Given the description of an element on the screen output the (x, y) to click on. 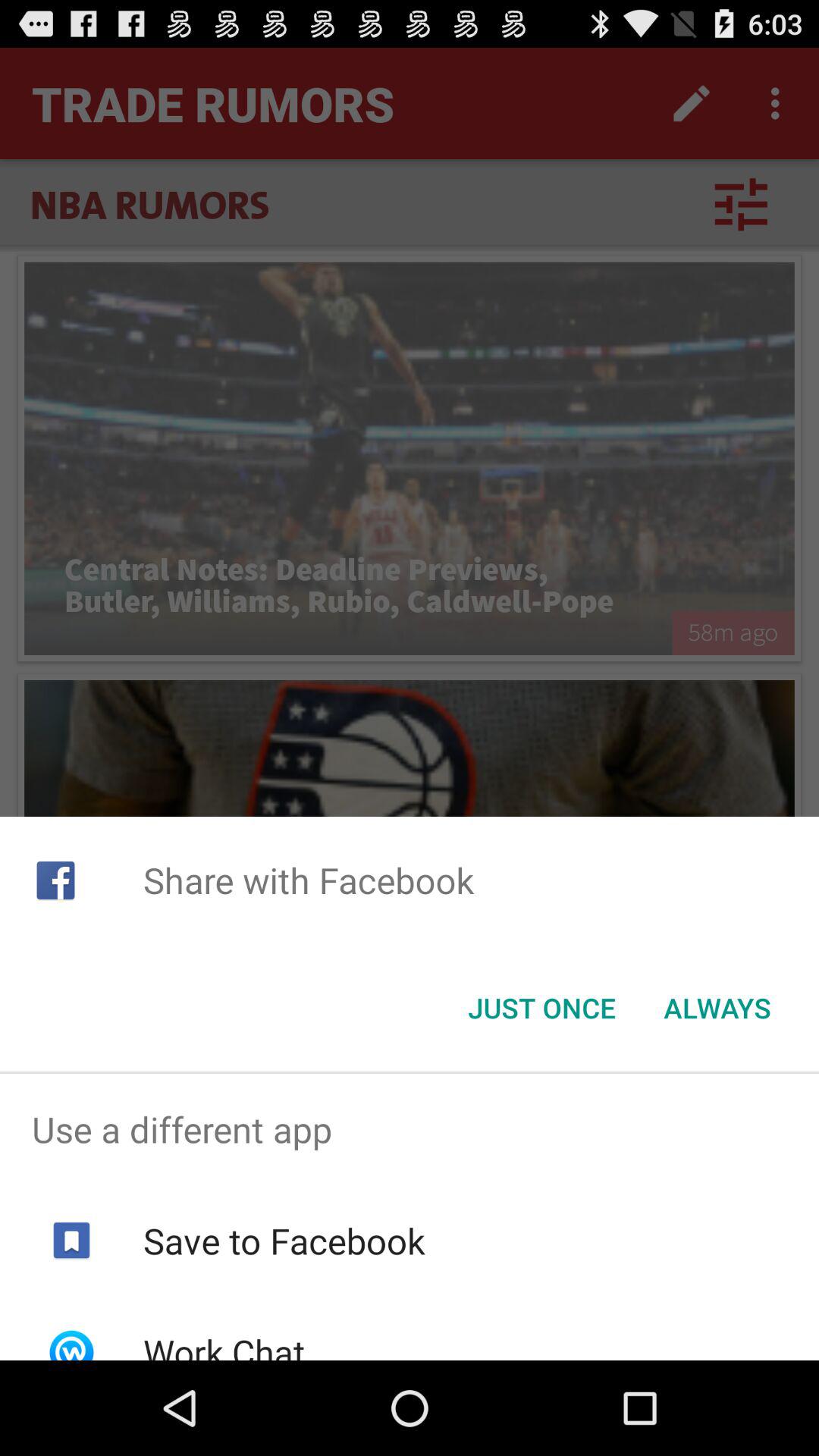
scroll to the just once item (541, 1007)
